Given the description of an element on the screen output the (x, y) to click on. 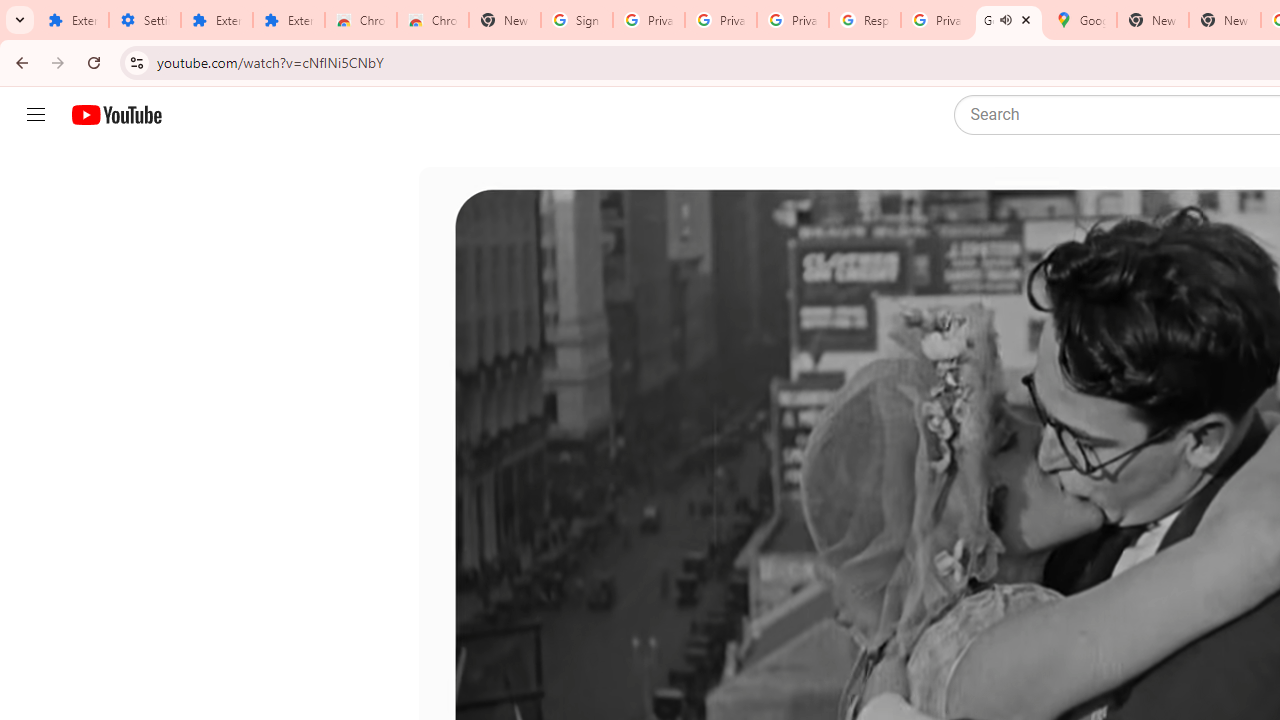
Chrome Web Store (360, 20)
Extensions (72, 20)
Extensions (216, 20)
